Given the description of an element on the screen output the (x, y) to click on. 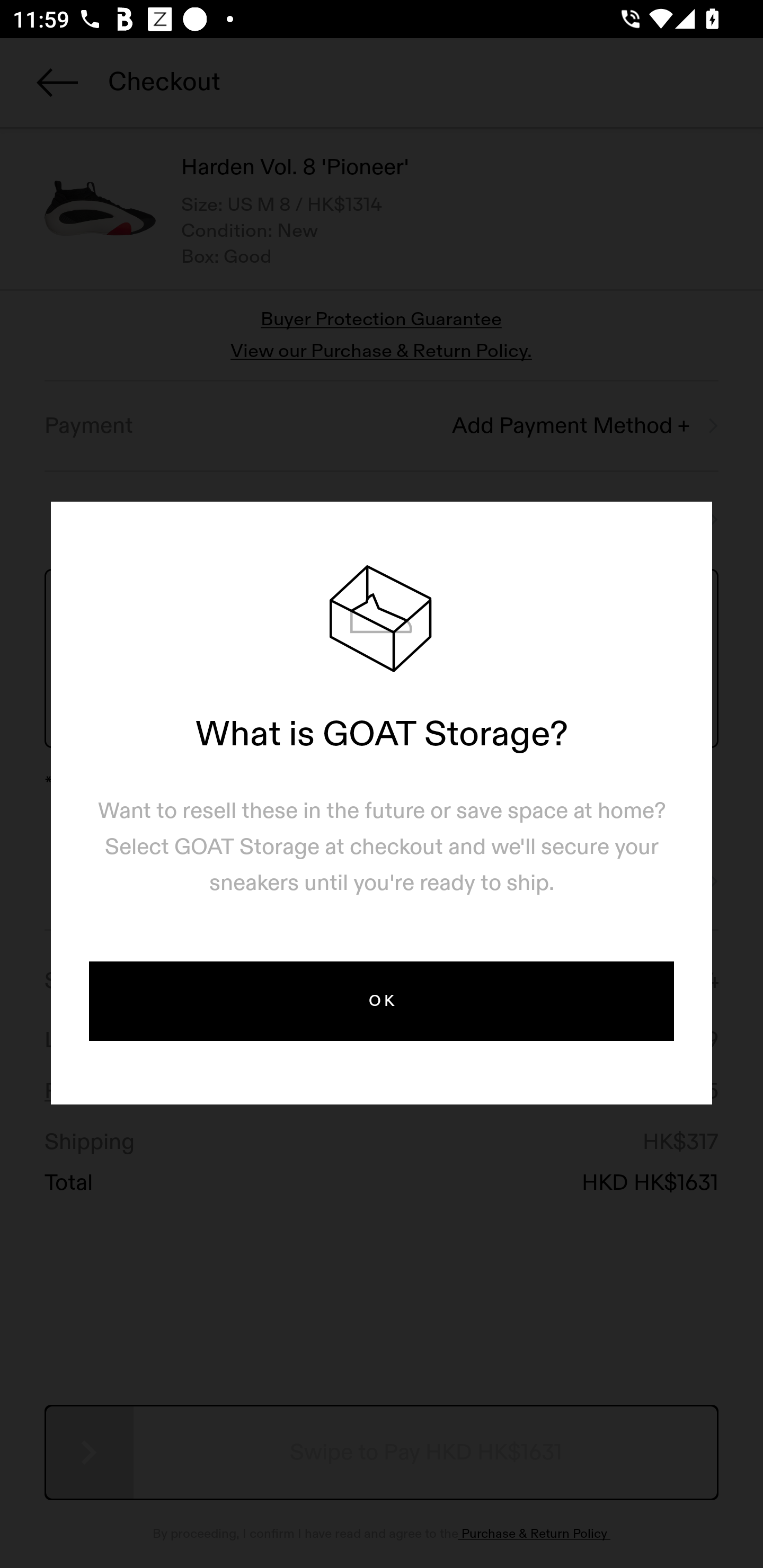
OK (381, 1001)
